Given the description of an element on the screen output the (x, y) to click on. 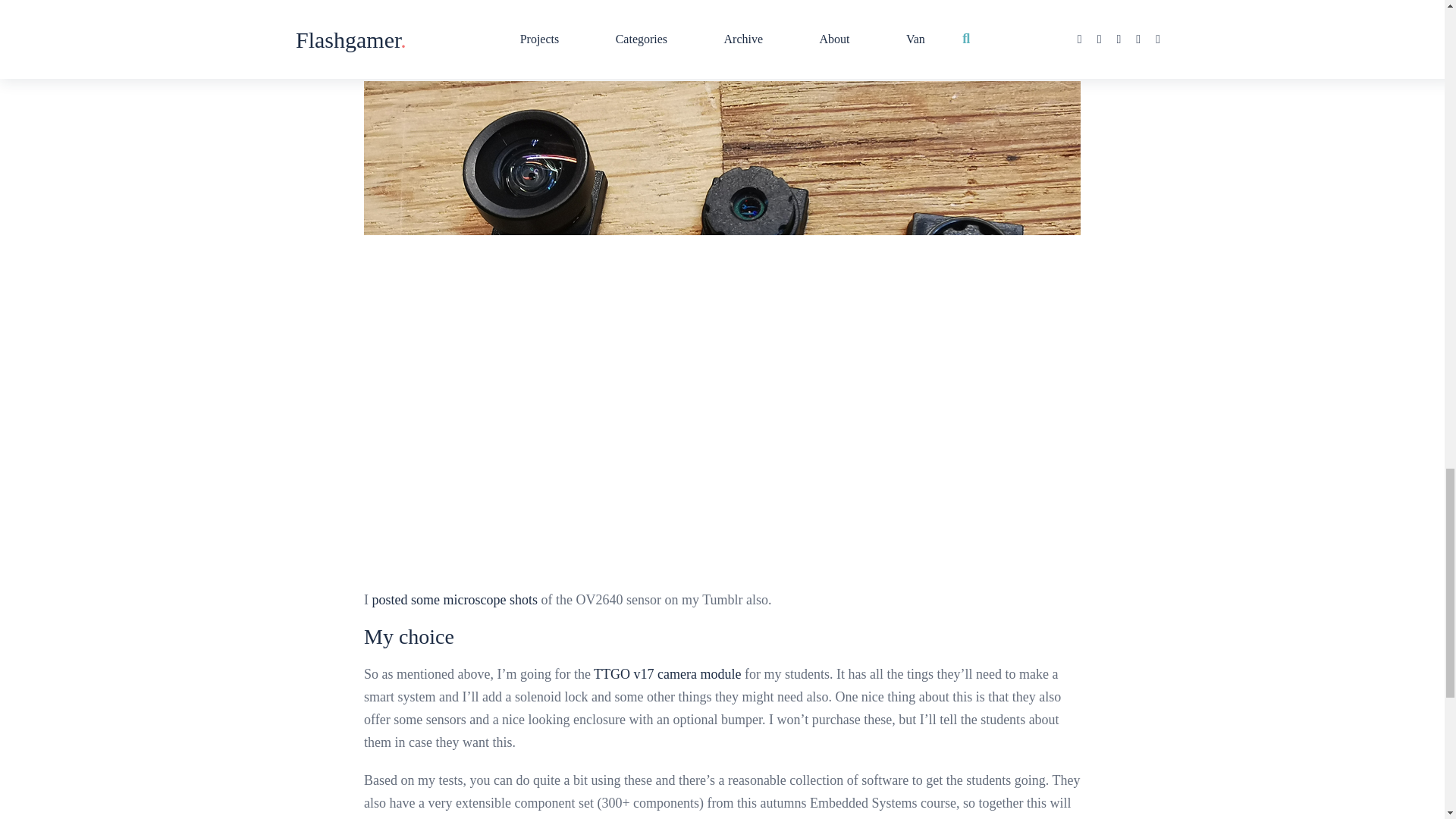
TTGO v17 camera module (667, 673)
posted some microscope shots (454, 599)
short, long or longer cable (979, 31)
